Given the description of an element on the screen output the (x, y) to click on. 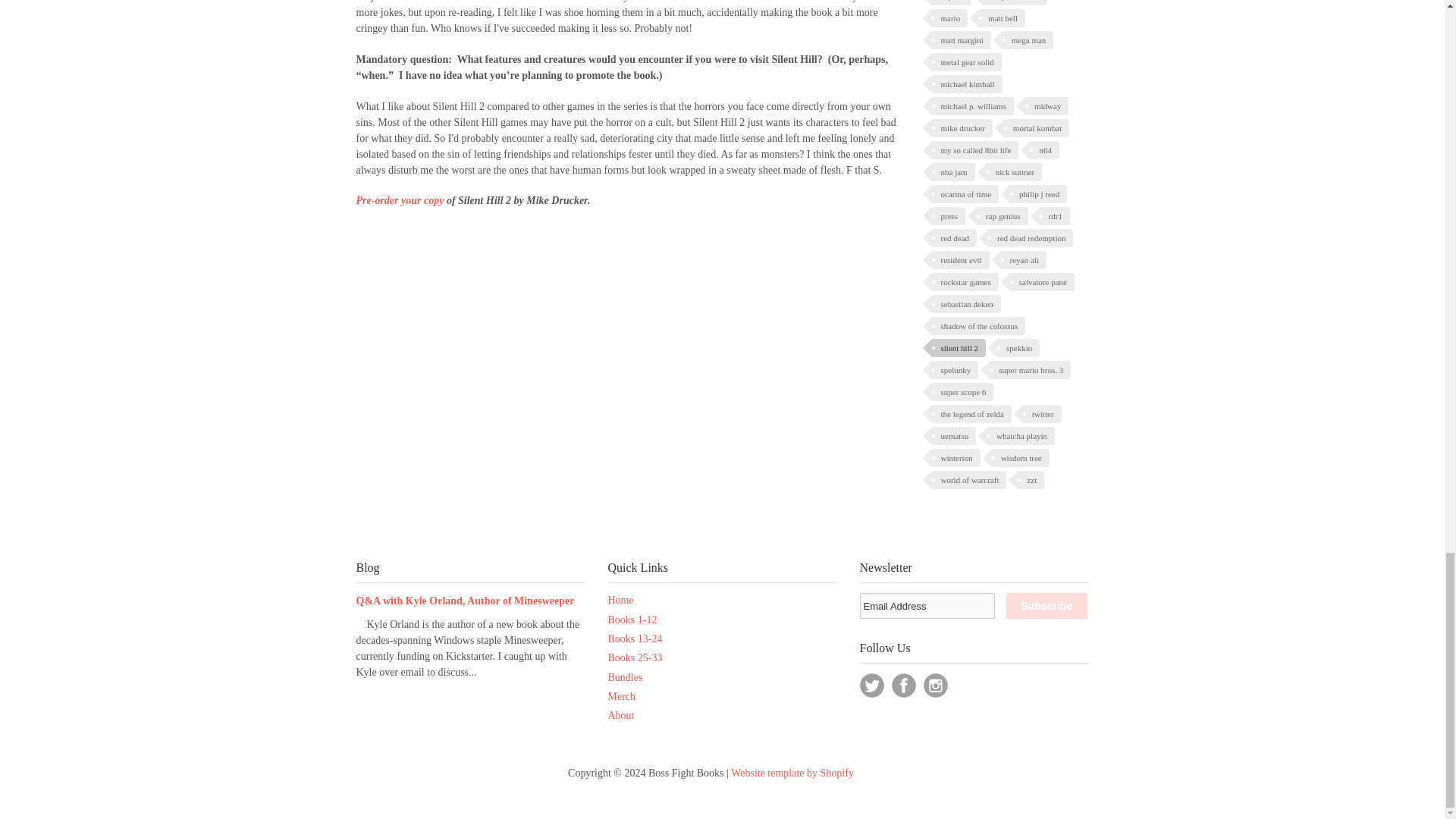
Subscribe (1046, 605)
